Given the description of an element on the screen output the (x, y) to click on. 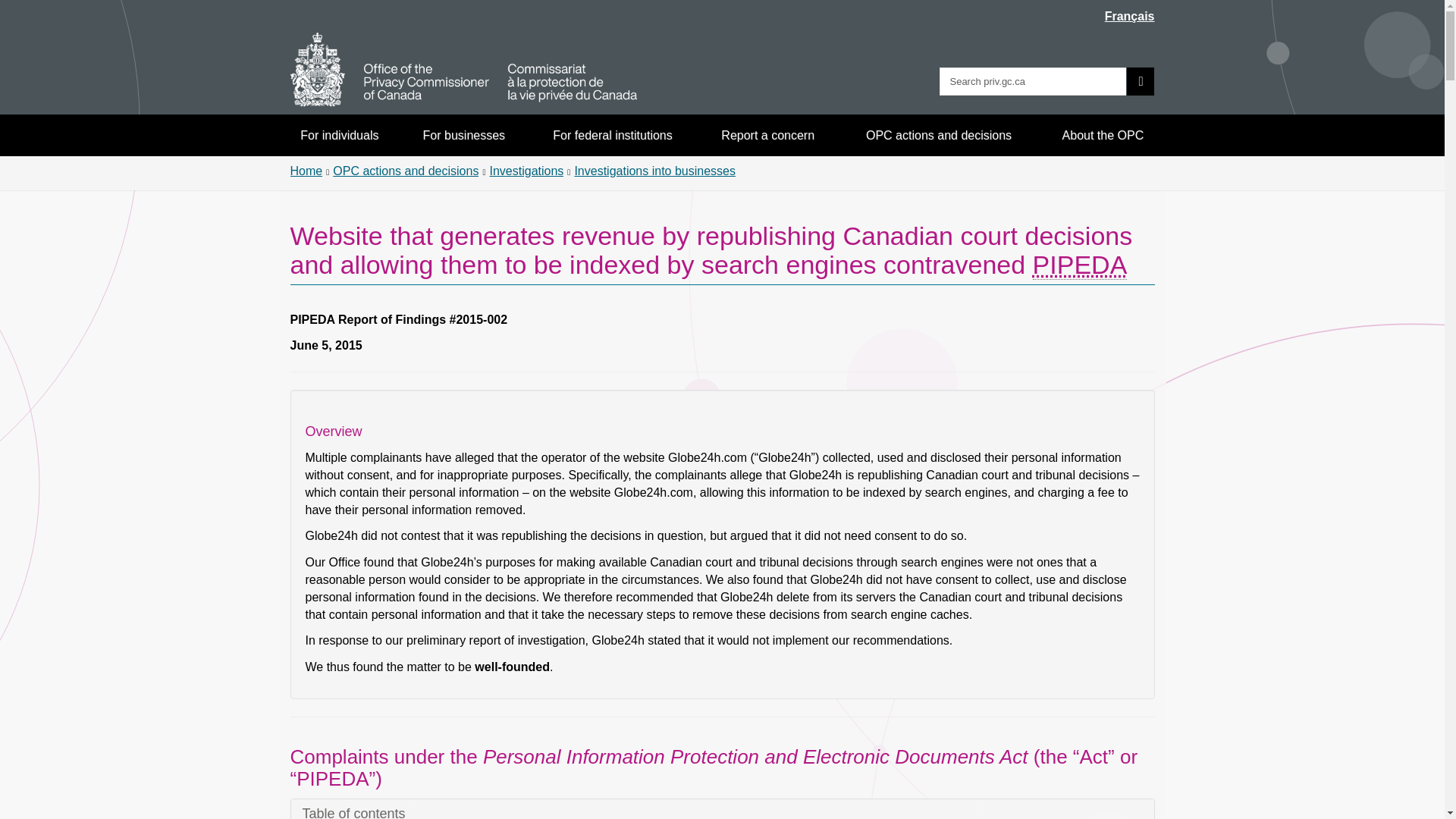
Office of the Privacy Commissioner of Canada (463, 69)
For individuals (340, 135)
Personal Information Protection and Electronic Documents Act (1079, 265)
OPC actions and decisions (939, 135)
Report a concern (768, 135)
Skip to main content (725, 11)
For businesses (463, 135)
For federal institutions (612, 135)
Search (1140, 81)
